Given the description of an element on the screen output the (x, y) to click on. 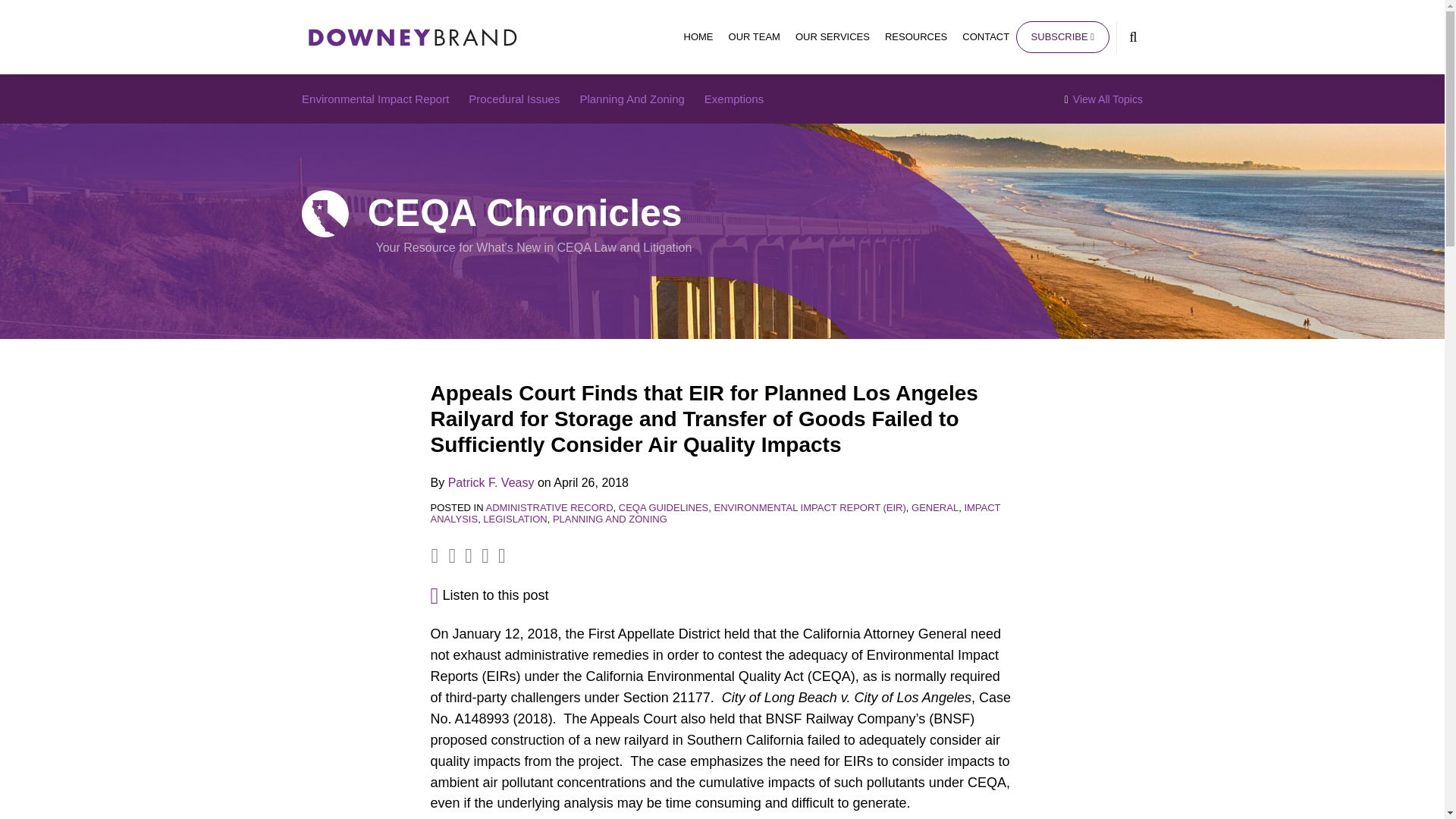
Procedural Issues (513, 99)
OUR SERVICES (831, 36)
PLANNING AND ZONING (609, 518)
Patrick F. Veasy (491, 481)
Planning And Zoning (631, 99)
HOME (698, 36)
ADMINISTRATIVE RECORD (548, 507)
RESOURCES (916, 36)
Environmental Impact Report (374, 99)
GENERAL (934, 507)
